Given the description of an element on the screen output the (x, y) to click on. 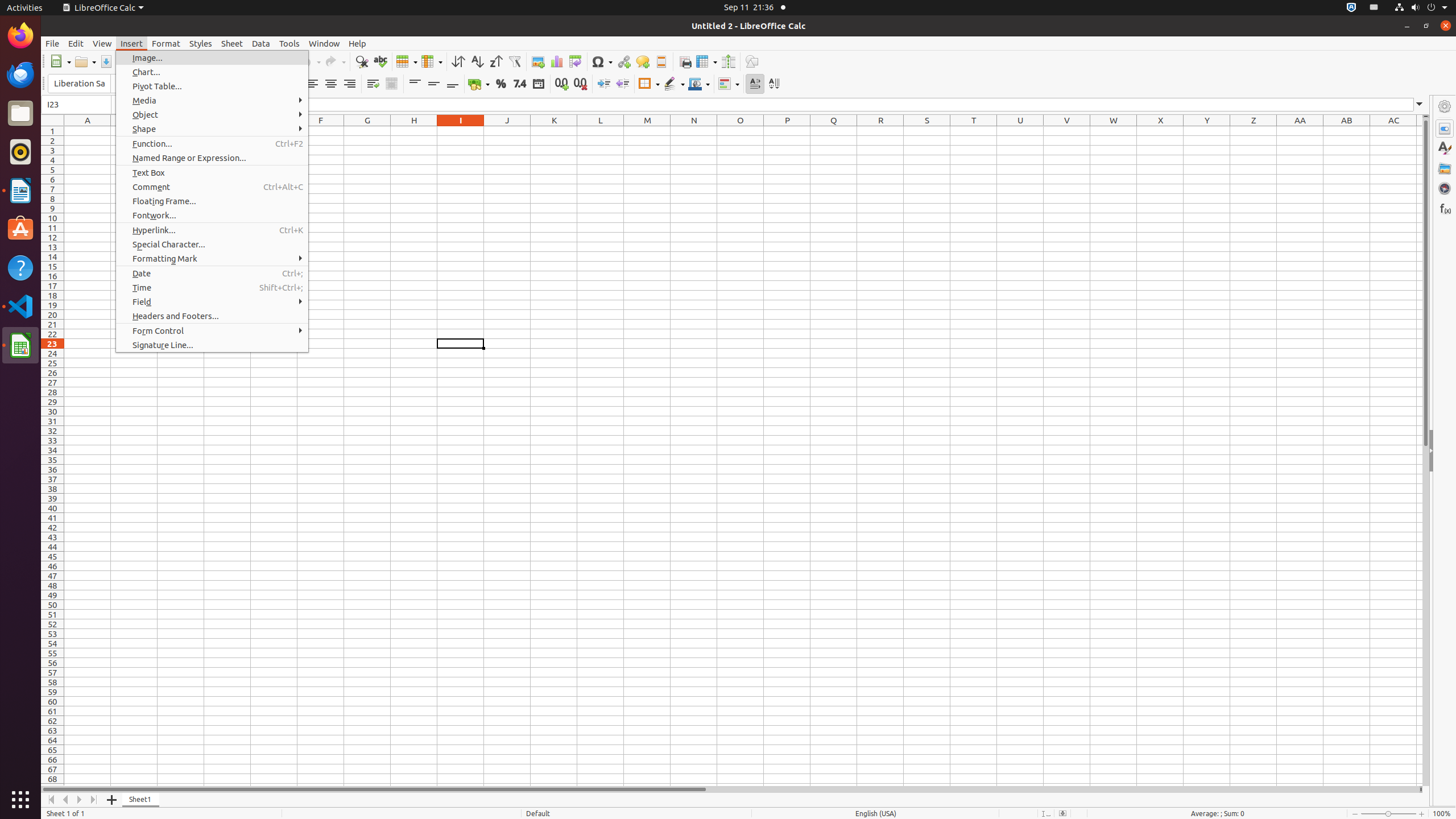
Special Character... Element type: menu-item (212, 244)
Text direction from top to bottom Element type: toggle-button (773, 83)
Pivot Table Element type: push-button (574, 61)
Z1 Element type: table-cell (1253, 130)
LibreOffice Calc Element type: push-button (20, 344)
